Given the description of an element on the screen output the (x, y) to click on. 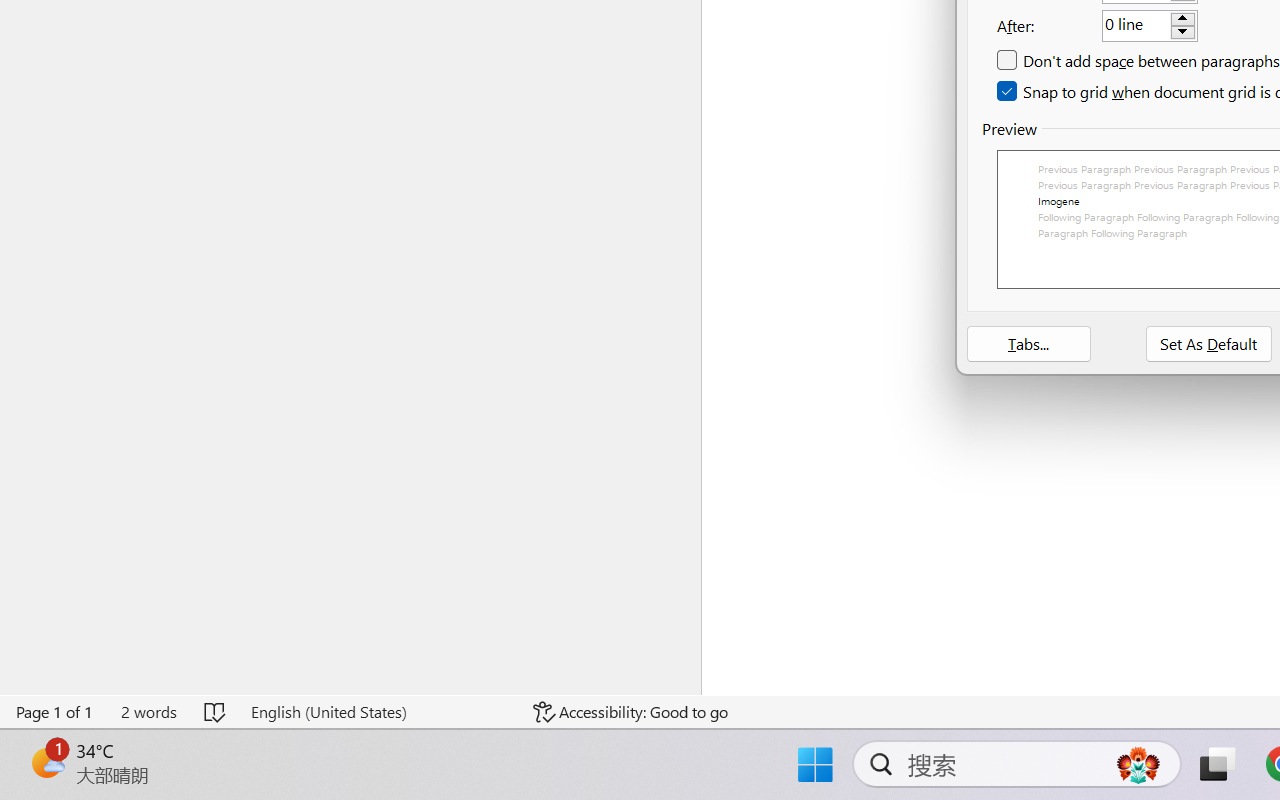
RichEdit Control (1136, 25)
Page Number Page 1 of 1 (55, 712)
Tabs... (1028, 343)
Set As Default (1209, 343)
After: (1150, 25)
